Given the description of an element on the screen output the (x, y) to click on. 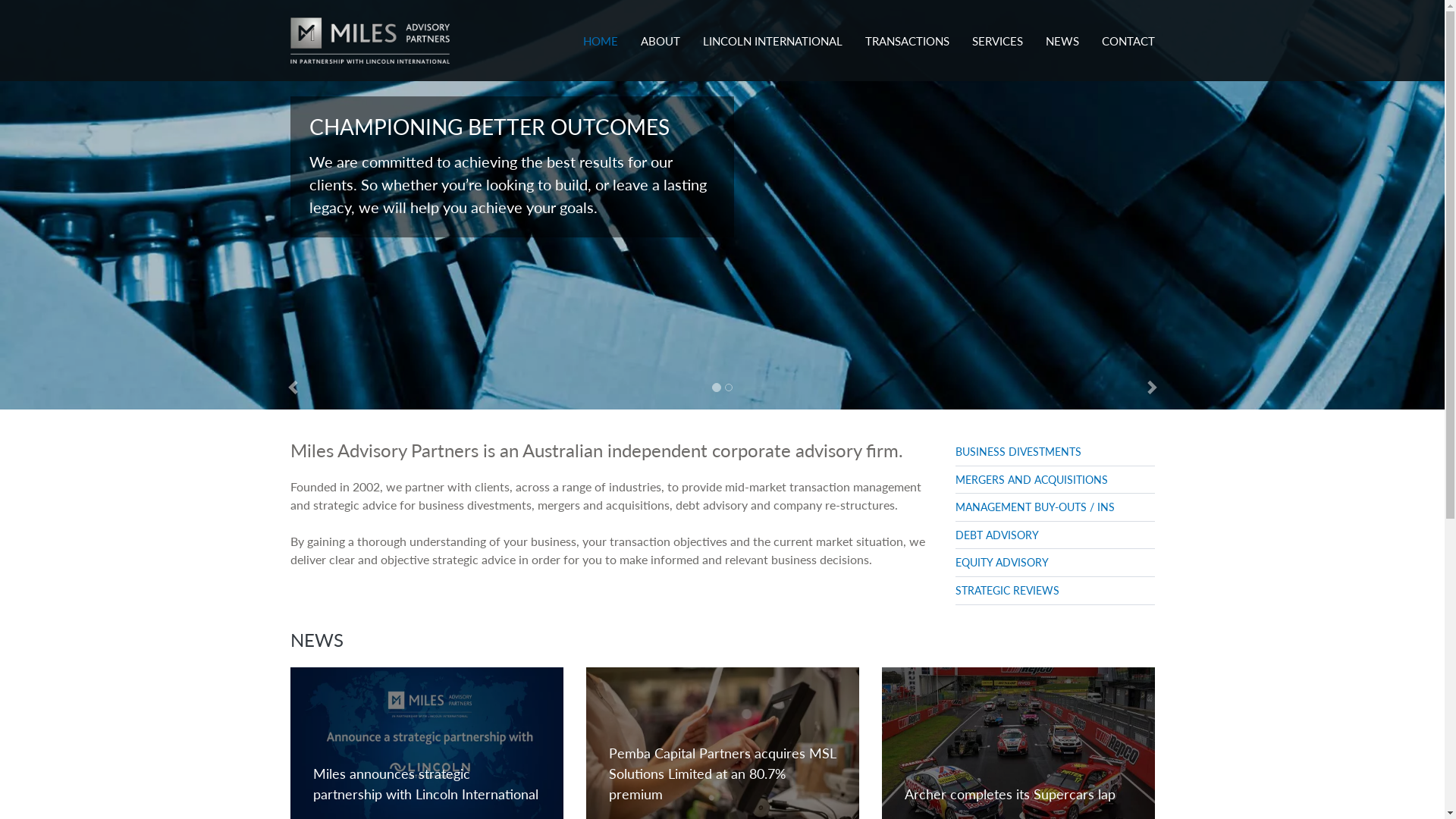
LINCOLN INTERNATIONAL Element type: text (772, 25)
DEBT ADVISORY Element type: text (996, 534)
NEWS Element type: text (1062, 25)
SERVICES Element type: text (996, 25)
MANAGEMENT BUY-OUTS / INS Element type: text (1034, 506)
STRATEGIC REVIEWS Element type: text (1007, 589)
TRANSACTIONS Element type: text (906, 25)
HOME Element type: text (600, 25)
ABOUT Element type: text (660, 25)
MERGERS AND ACQUISITIONS Element type: text (1031, 478)
CONTACT Element type: text (1128, 25)
Archer completes its Supercars lap Element type: text (1008, 793)
BUSINESS DIVESTMENTS Element type: text (1018, 450)
EQUITY ADVISORY Element type: text (1001, 561)
